Given the description of an element on the screen output the (x, y) to click on. 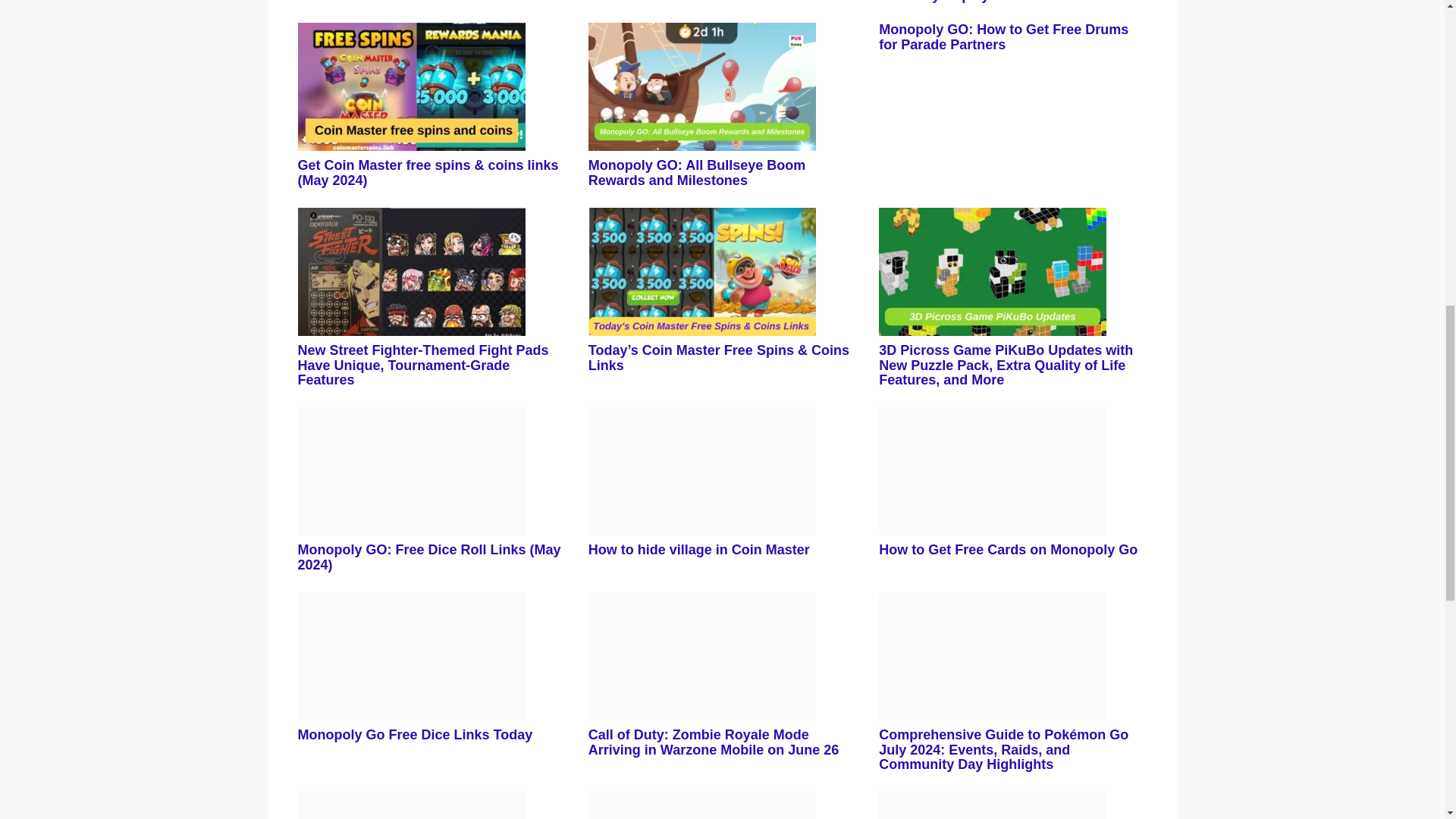
Home page 10 (410, 86)
Monopoly GO: When is the Next Sticker Boom Event? (425, 2)
Monopoly GO: How to Get Free Drums for Parade Partners (1003, 37)
Home page 11 (701, 86)
Minecraft PS5 Preview Spotted But Is Currently Unplayable (1000, 2)
Free Coin Master Spins live: here is Your Ultimate Guide (719, 2)
Monopoly GO: All Bullseye Boom Rewards and Milestones (696, 173)
